Given the description of an element on the screen output the (x, y) to click on. 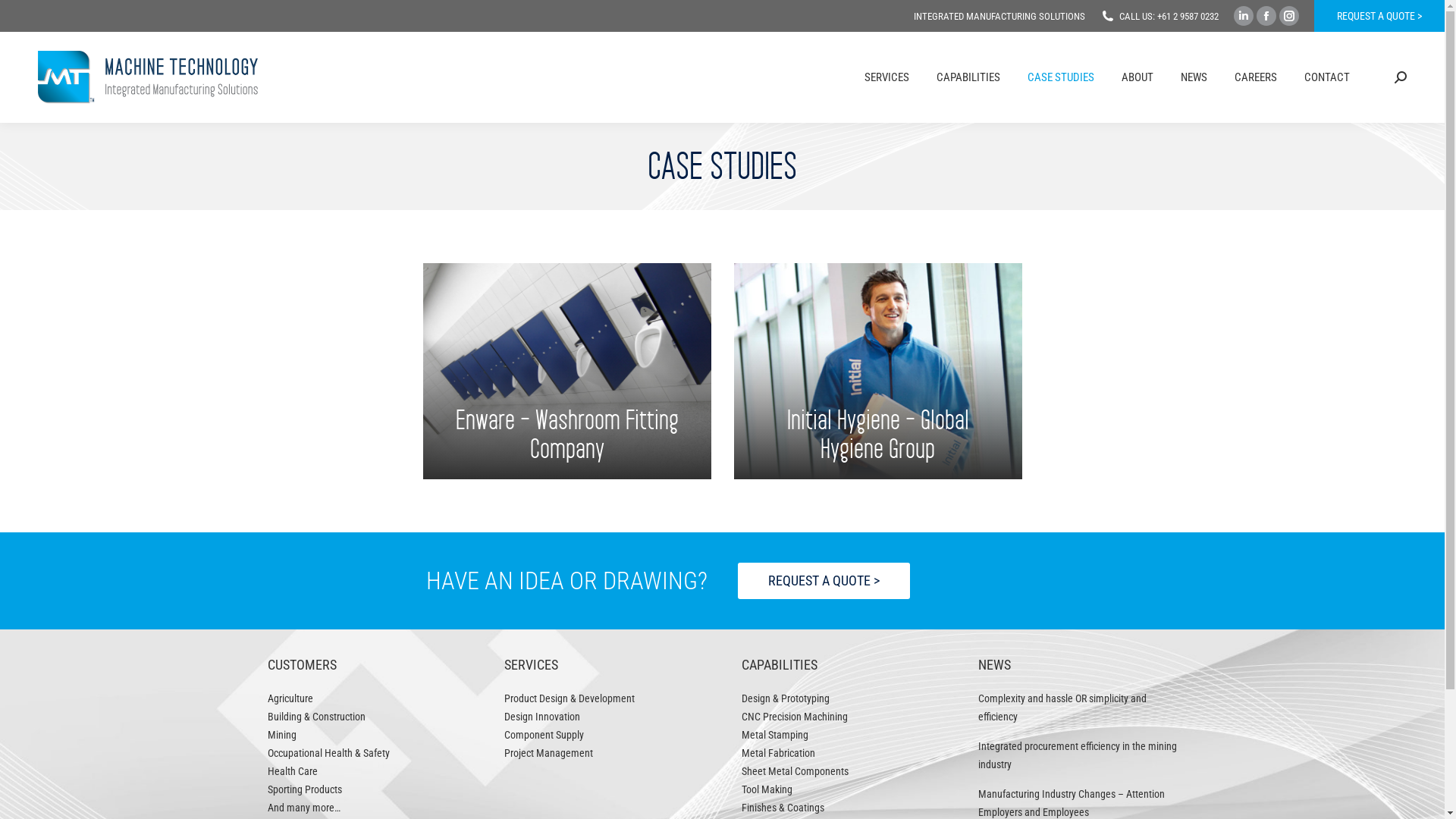
CALL US: +61 2 9587 0232 Element type: text (1168, 16)
Metal Fabrication Element type: text (778, 752)
Facebook page opens in new window Element type: text (1266, 15)
Sporting Products Element type: text (303, 789)
Product Design & Development Element type: text (569, 698)
Design & Prototyping Element type: text (785, 698)
Tool Making Element type: text (766, 789)
Finishes & Coatings Element type: text (782, 807)
REQUEST A QUOTE > Element type: text (1379, 15)
Project Management Element type: text (548, 752)
Integrated procurement efficiency in the mining industry Element type: text (1077, 755)
Design Innovation Element type: text (542, 716)
Sheet Metal Components Element type: text (794, 771)
CASE STUDIES Element type: text (1060, 76)
REQUEST A QUOTE > Element type: text (823, 580)
CONTACT Element type: text (1326, 76)
ABOUT Element type: text (1137, 76)
Linkedin page opens in new window Element type: text (1243, 15)
SERVICES Element type: text (886, 76)
Instagram page opens in new window Element type: text (1289, 15)
Complexity and hassle OR simplicity and efficiency Element type: text (1077, 707)
NEWS Element type: text (1193, 76)
Agriculture Element type: text (289, 698)
iStock_000002910968XSmall Element type: hover (567, 371)
Occupational Health & Safety Element type: text (327, 752)
Mining Element type: text (280, 734)
initial_cs Element type: hover (878, 371)
Go! Element type: text (31, 16)
CAPABILITIES Element type: text (968, 76)
CAREERS Element type: text (1255, 76)
Metal Stamping Element type: text (774, 734)
Component Supply Element type: text (543, 734)
CNC Precision Machining Element type: text (794, 716)
Building & Construction Element type: text (315, 716)
Health Care Element type: text (291, 771)
